Given the description of an element on the screen output the (x, y) to click on. 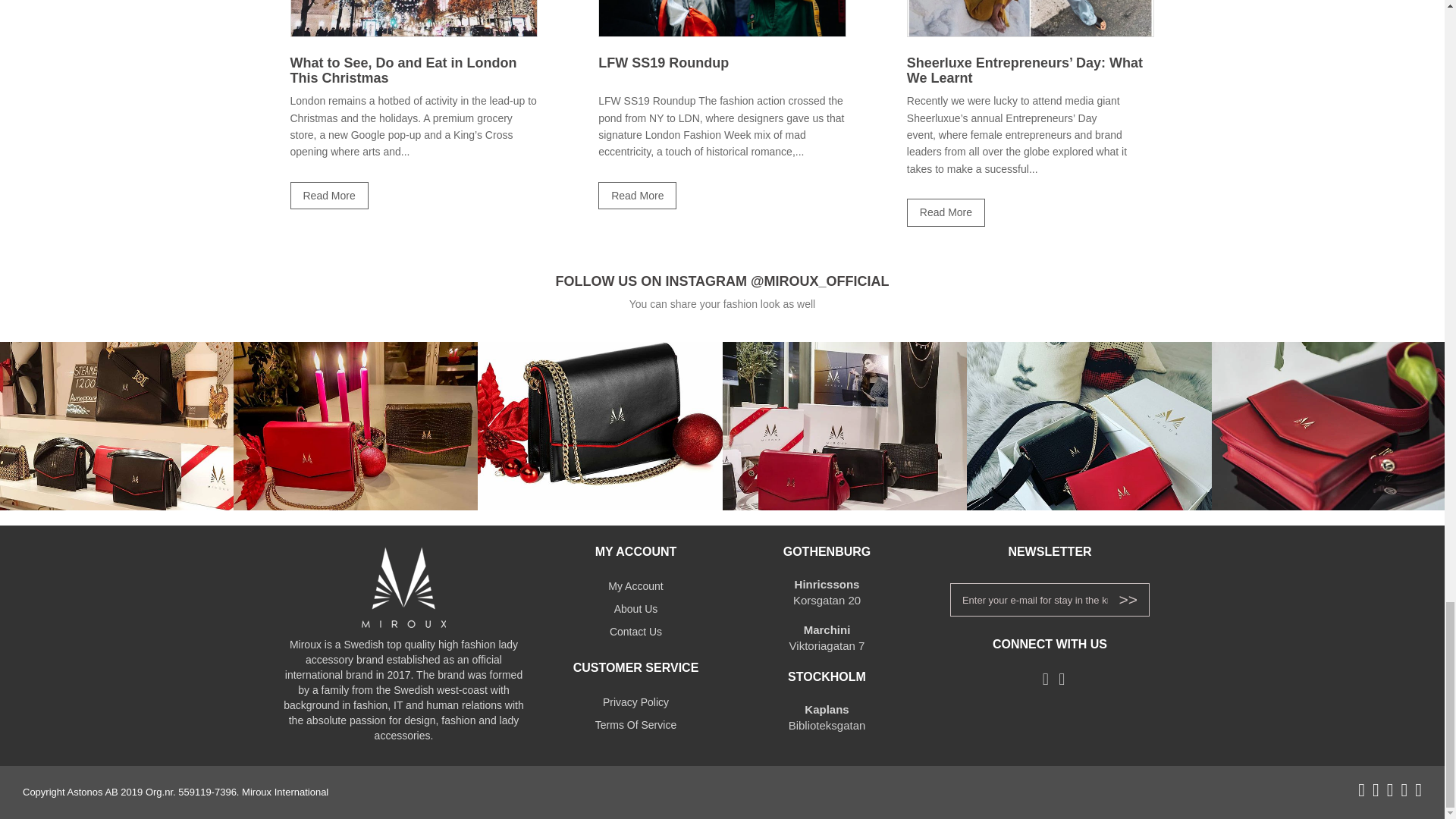
Privacy Policy (635, 702)
Terms of Service (636, 724)
